Given the description of an element on the screen output the (x, y) to click on. 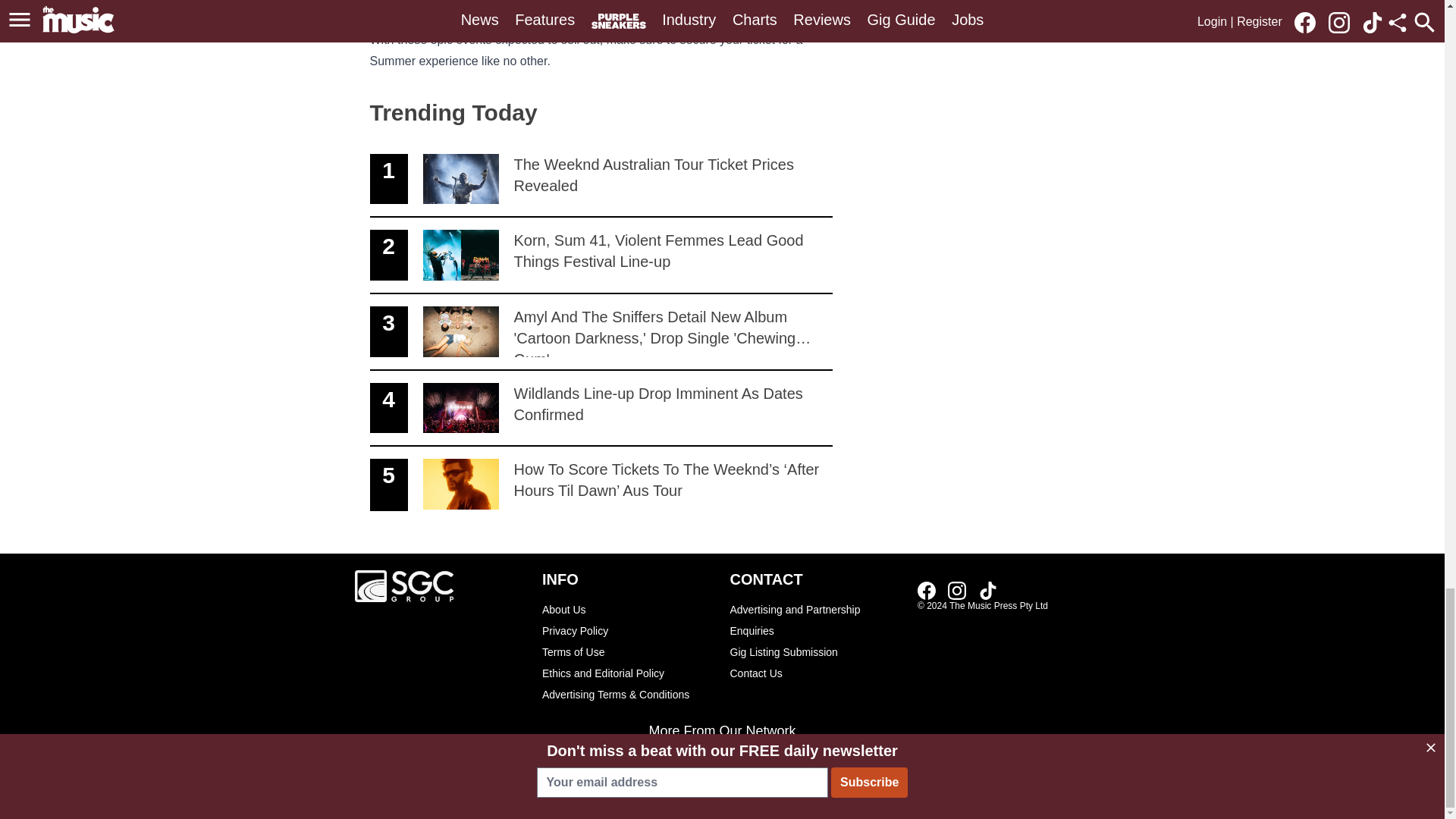
Link to our Facebook (926, 590)
Terms of Use (627, 651)
Advertising and Partnership Enquiries (815, 619)
Link to our Instagram (956, 590)
Ethics and Editorial Policy (600, 179)
Link to our TikTok (627, 672)
